Given the description of an element on the screen output the (x, y) to click on. 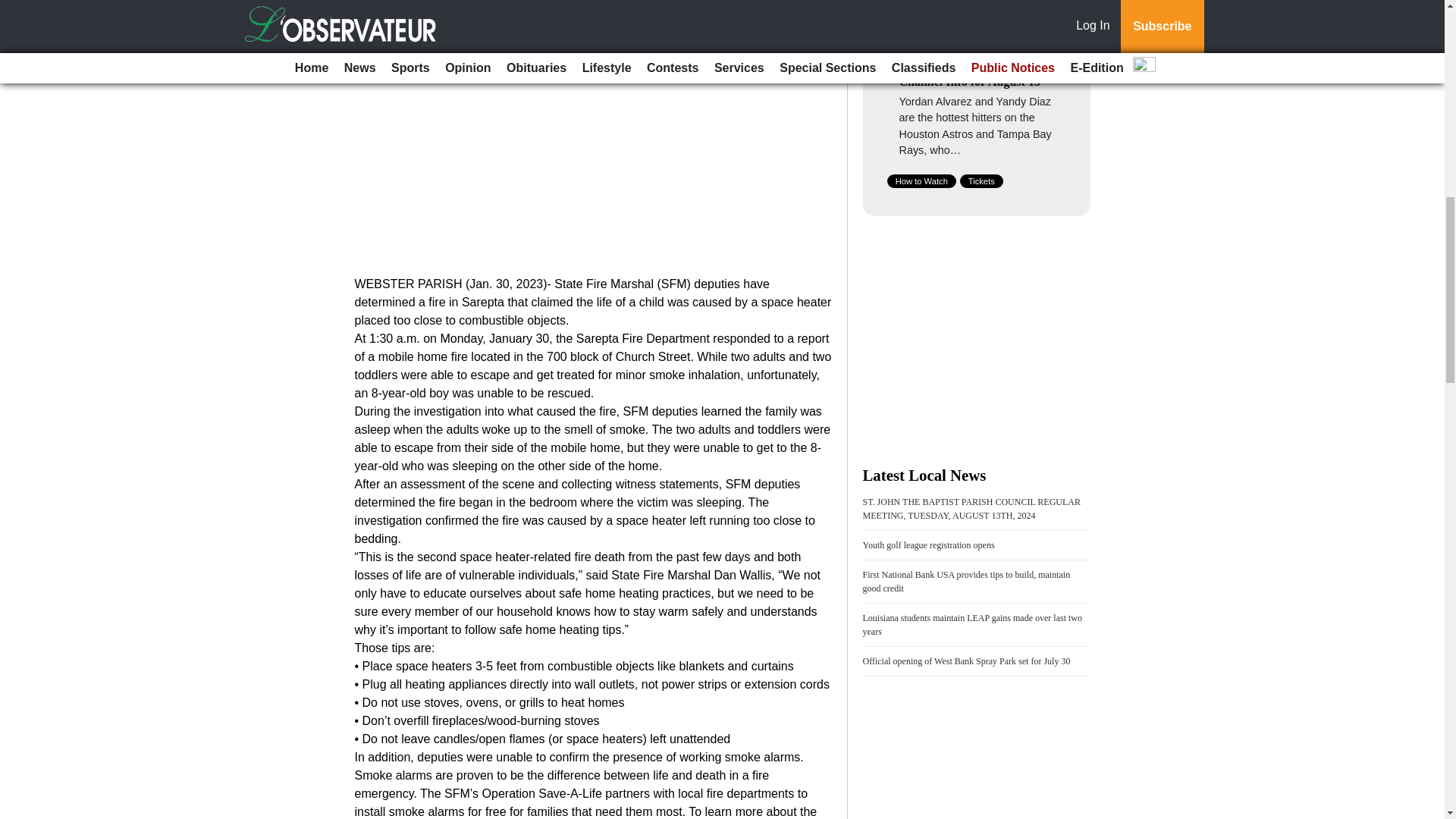
Tickets (981, 181)
How to Watch (921, 181)
Youth golf league registration opens (928, 544)
